Given the description of an element on the screen output the (x, y) to click on. 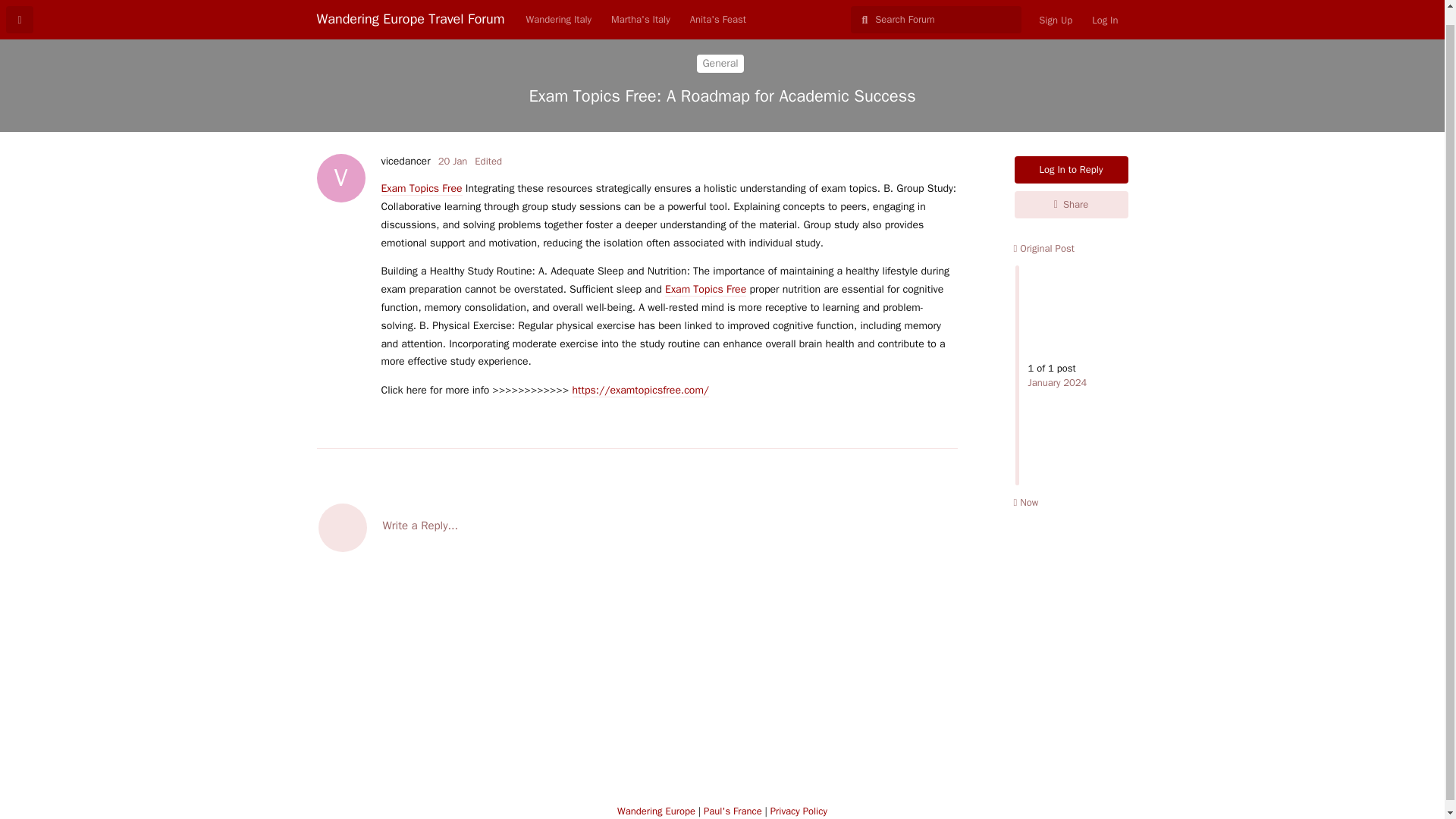
Paul's France (732, 810)
20 Jan (452, 160)
Saturday, January 20, 2024 2:44 PM (452, 160)
Wandering Europe Travel Forum (411, 6)
Now (1025, 502)
Log In to Reply (1071, 169)
Privacy Policy (798, 810)
Write a Reply... (636, 525)
Free Flarum privacy policy (798, 810)
General (719, 63)
